Given the description of an element on the screen output the (x, y) to click on. 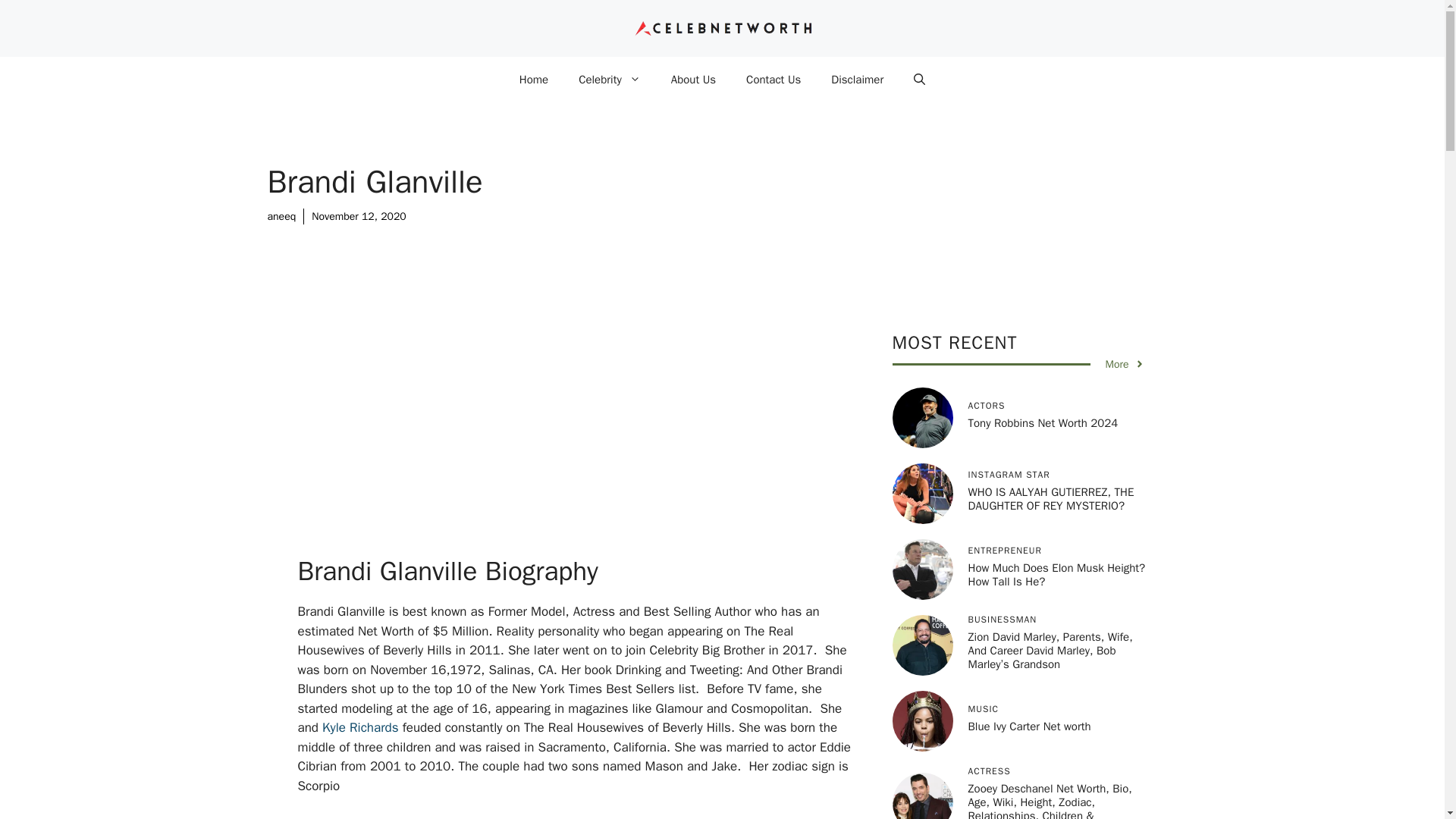
Contact Us (772, 79)
WHO IS AALYAH GUTIERREZ, THE DAUGHTER OF REY MYSTERIO? (1051, 498)
Home (533, 79)
More (1124, 364)
How Much Does Elon Musk Height? How Tall Is He? (1056, 574)
aneeq (280, 215)
Advertisement (600, 442)
Celebrity (609, 79)
About Us (693, 79)
